Given the description of an element on the screen output the (x, y) to click on. 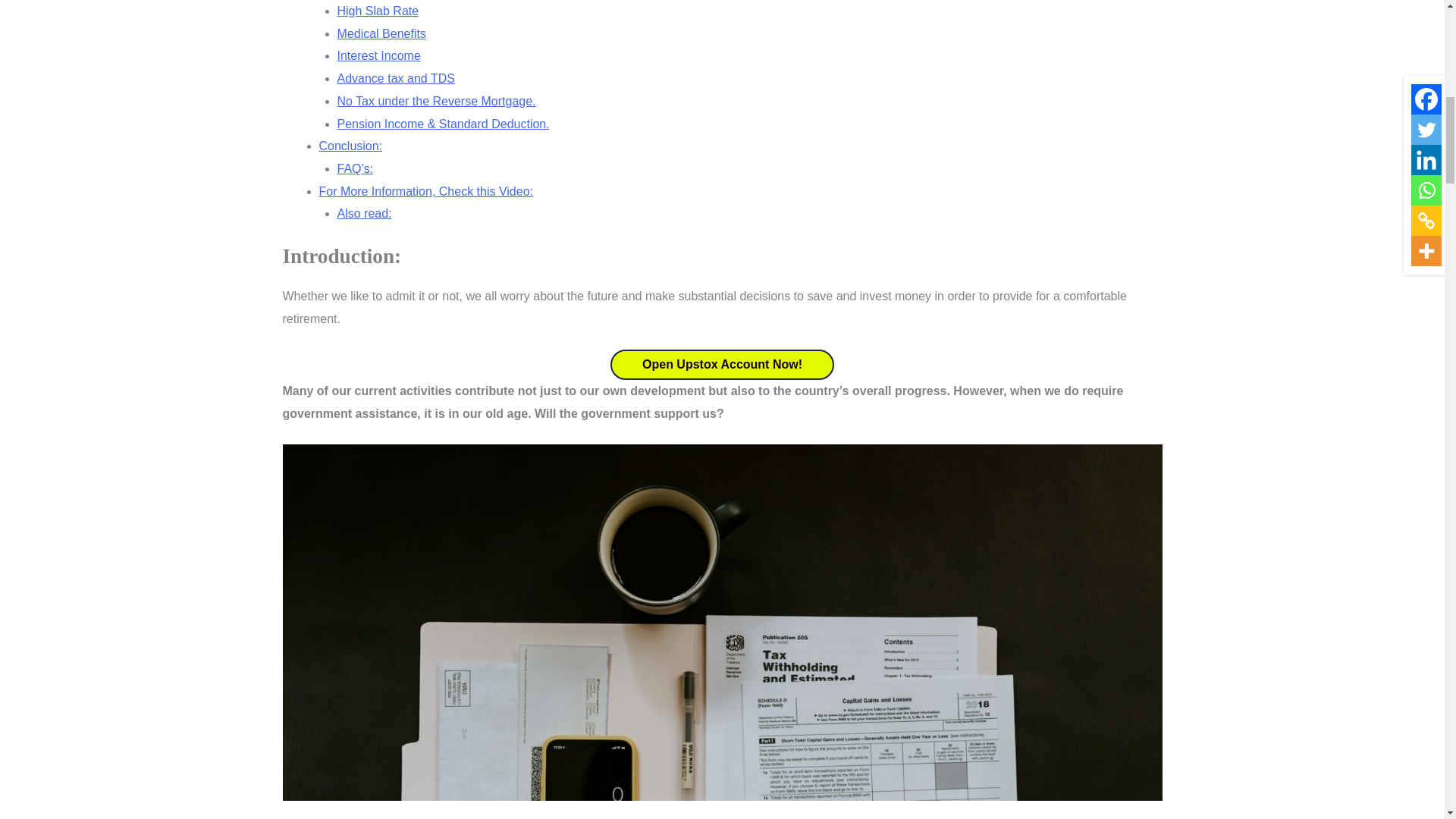
Interest Income (378, 55)
High Slab Rate (377, 10)
Medical Benefits (380, 33)
No Tax under the Reverse Mortgage. (435, 101)
No Tax under the Reverse Mortgage. (435, 101)
High Slab Rate (377, 10)
Advance tax and TDS (395, 78)
Interest Income (378, 55)
Medical Benefits (380, 33)
Advance tax and TDS (395, 78)
